Given the description of an element on the screen output the (x, y) to click on. 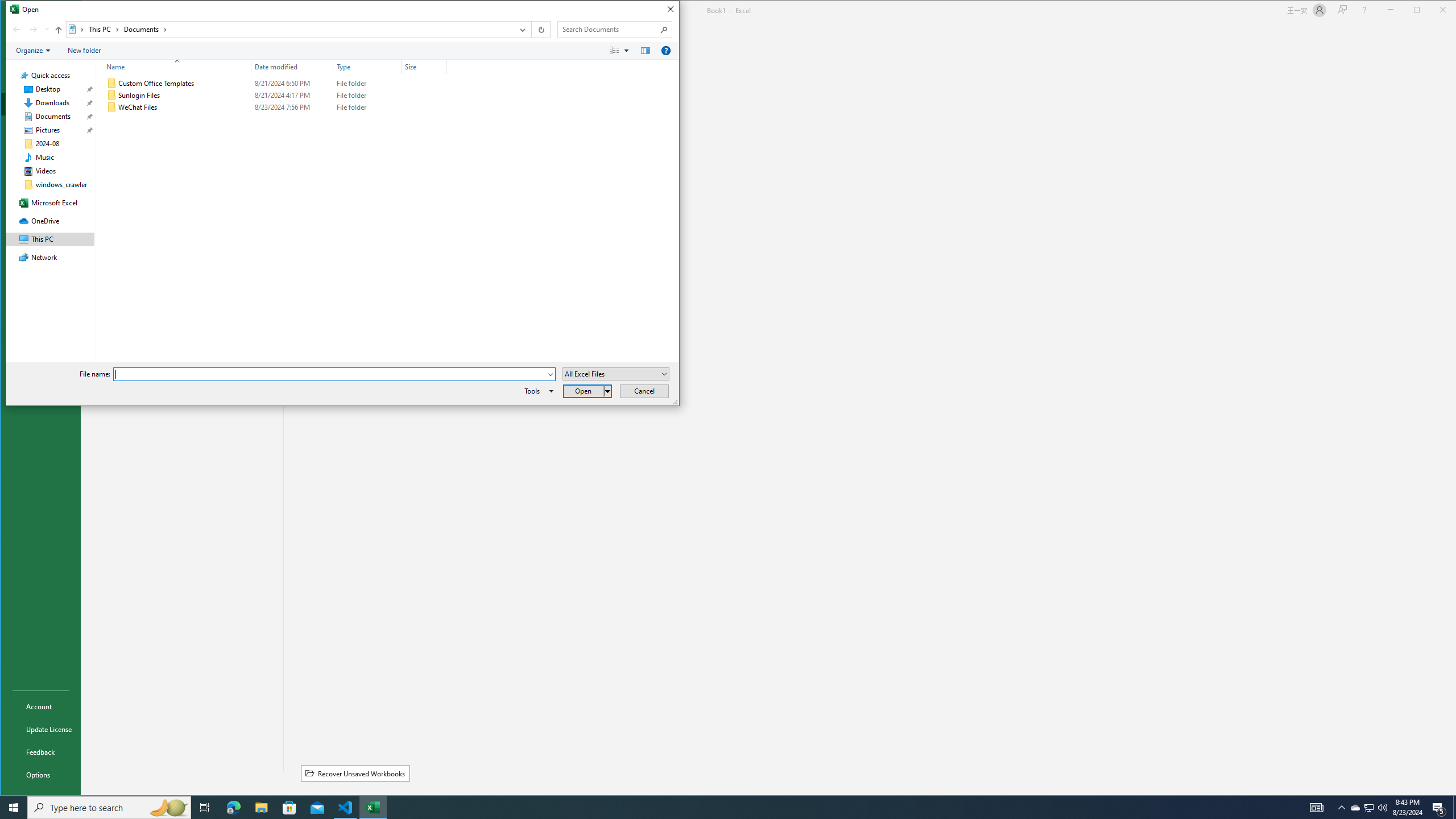
Refresh "Documents" (F5) (540, 29)
Recover Unsaved Workbooks (355, 773)
Sunlogin Files (274, 95)
Start (13, 807)
Up to "This PC" (Alt + Up Arrow) (58, 29)
Action Center, 5 new notifications (1439, 807)
Back (Alt + Left Arrow) (15, 29)
User Promoted Notification Area (1368, 807)
Cancel (643, 391)
Command Module (341, 50)
Tools (537, 390)
Search (663, 29)
Visual Studio Code - 1 running window (1355, 807)
